Given the description of an element on the screen output the (x, y) to click on. 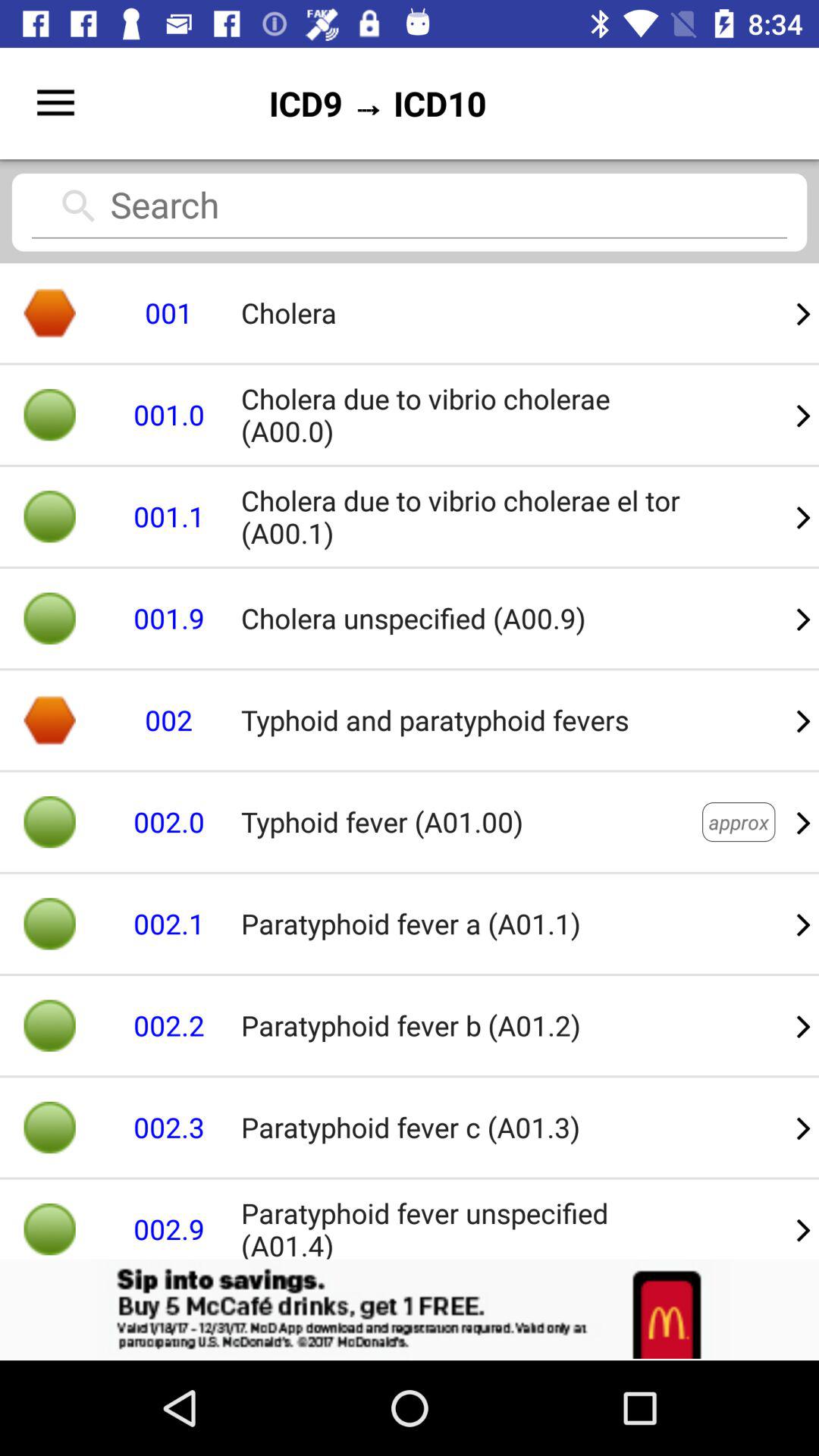
tap item to the right of the typhoid fever a01 item (803, 923)
